Given the description of an element on the screen output the (x, y) to click on. 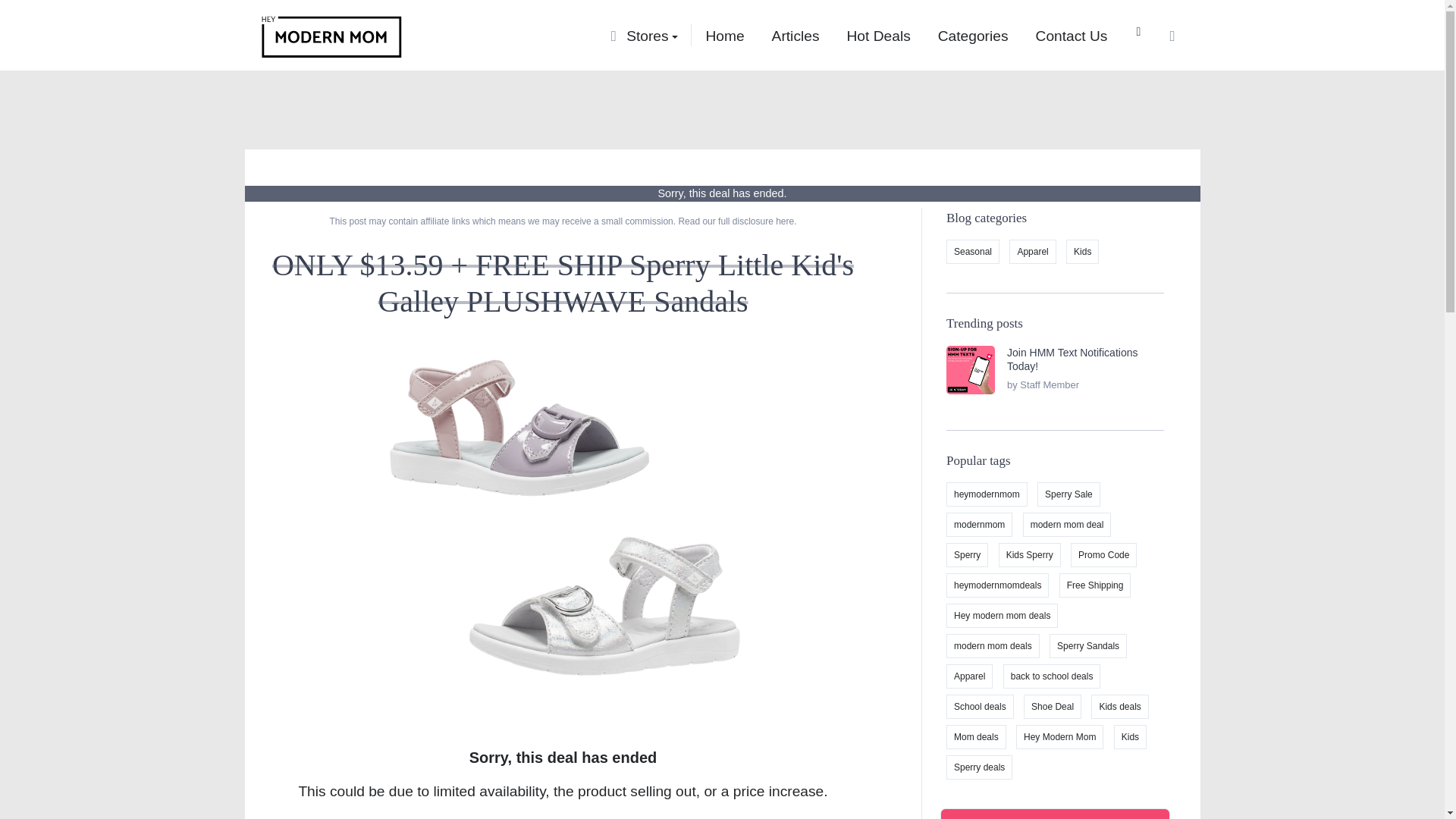
Articles (795, 35)
Home (724, 35)
Categories (973, 35)
Hot Deals (877, 35)
Stores (652, 35)
